Given the description of an element on the screen output the (x, y) to click on. 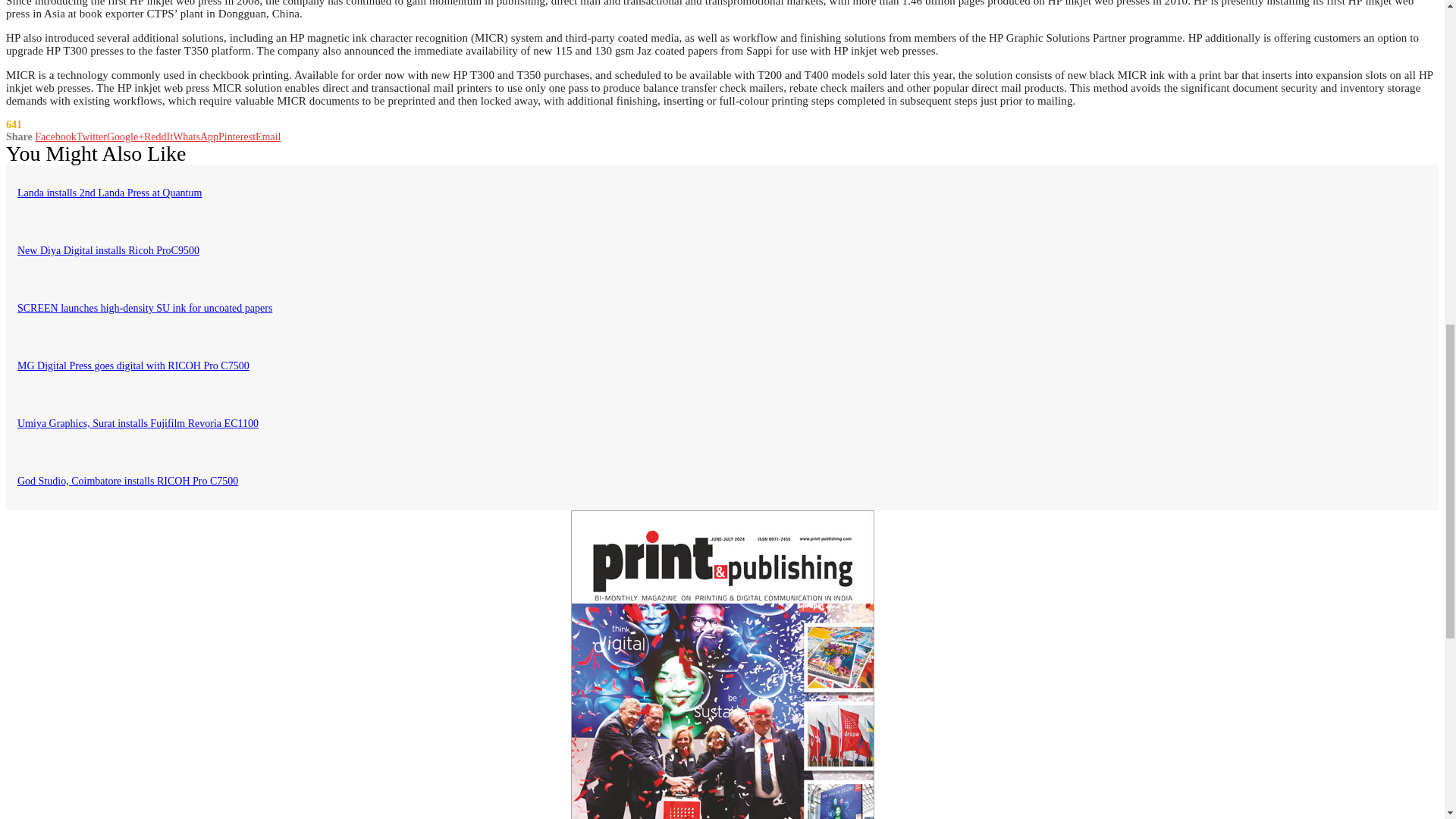
WhatsApp (195, 136)
God Studio, Coimbatore installs RICOH Pro C7500 (127, 480)
Landa installs 2nd Landa Press at Quantum (109, 193)
ReddIt (158, 136)
Facebook (54, 136)
MG Digital Press goes digital with RICOH Pro C7500 (132, 365)
New Diya Digital installs Ricoh ProC9500 (108, 250)
Pinterest (237, 136)
New Diya Digital installs Ricoh ProC9500 (108, 250)
Twitter (91, 136)
